Given the description of an element on the screen output the (x, y) to click on. 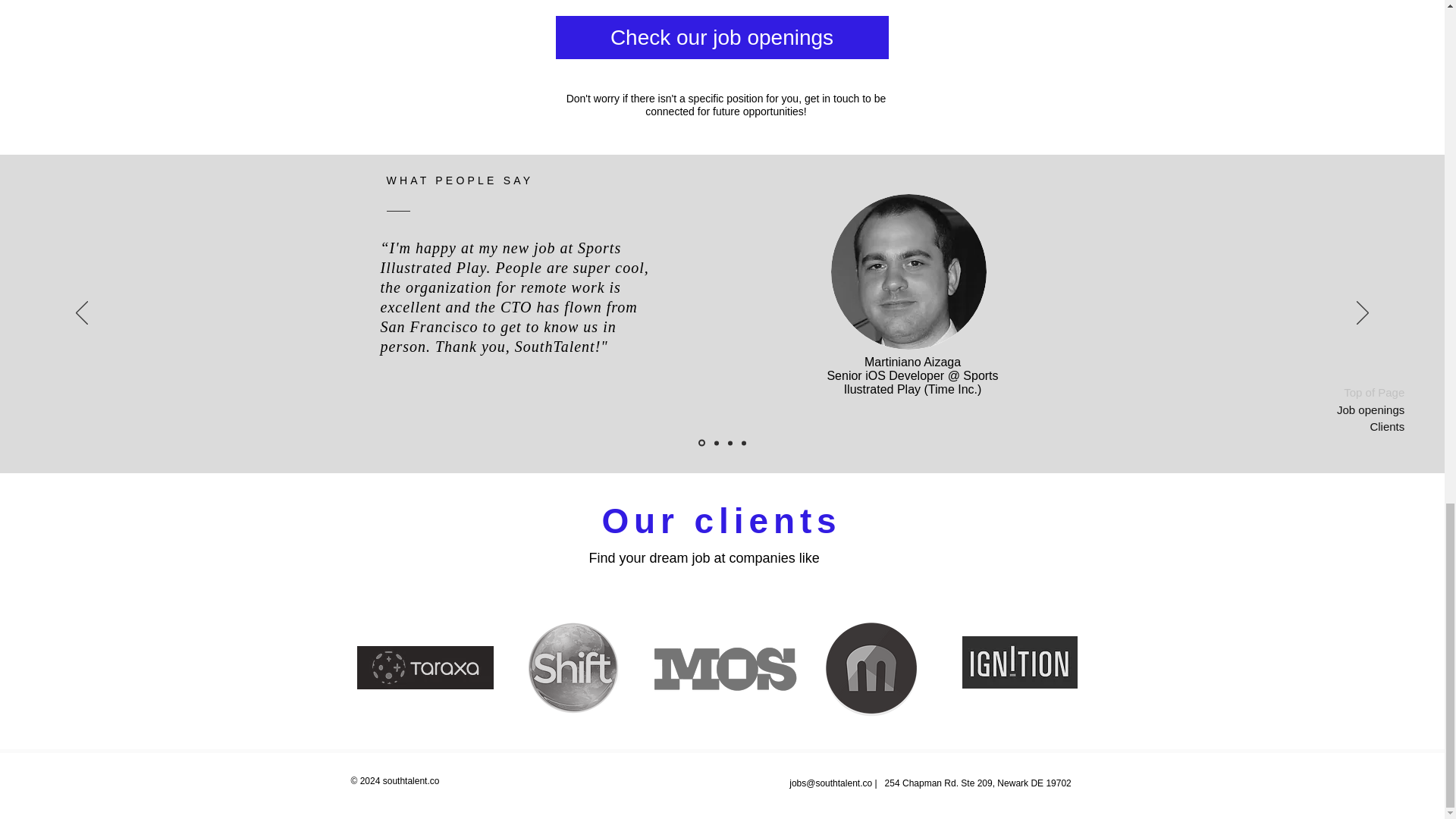
Check our job openings (721, 36)
